Given the description of an element on the screen output the (x, y) to click on. 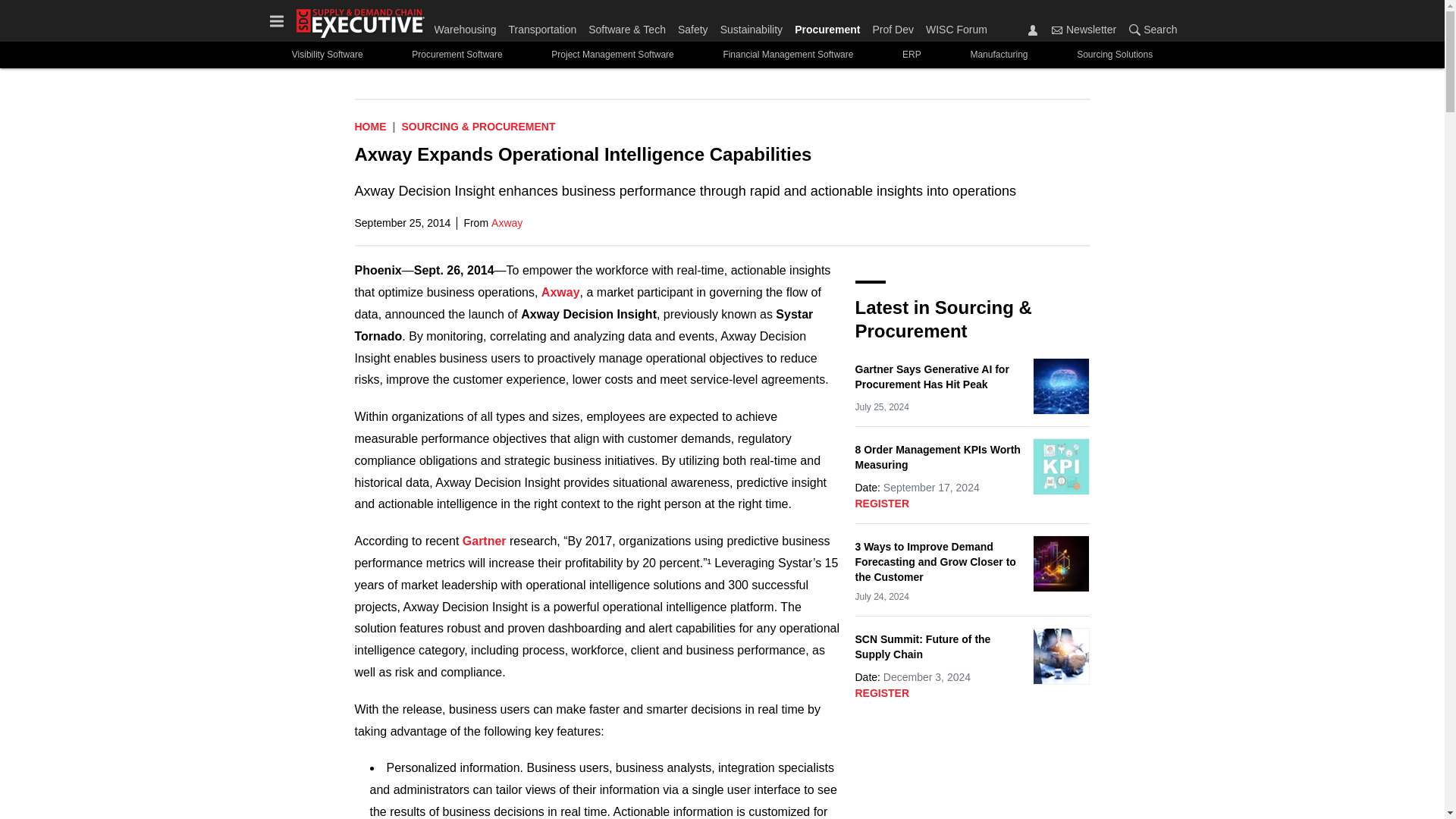
Procurement Software (457, 54)
Transportation (542, 26)
Warehousing (467, 26)
Safety (692, 26)
ERP (911, 54)
Sign In (1032, 29)
Project Management Software (612, 54)
Home (371, 126)
Sourcing Solutions (1115, 54)
Manufacturing (999, 54)
Newsletter (1083, 29)
Financial Management Software (788, 54)
Newsletter (1056, 29)
Procurement (827, 26)
Prof Dev (892, 26)
